Given the description of an element on the screen output the (x, y) to click on. 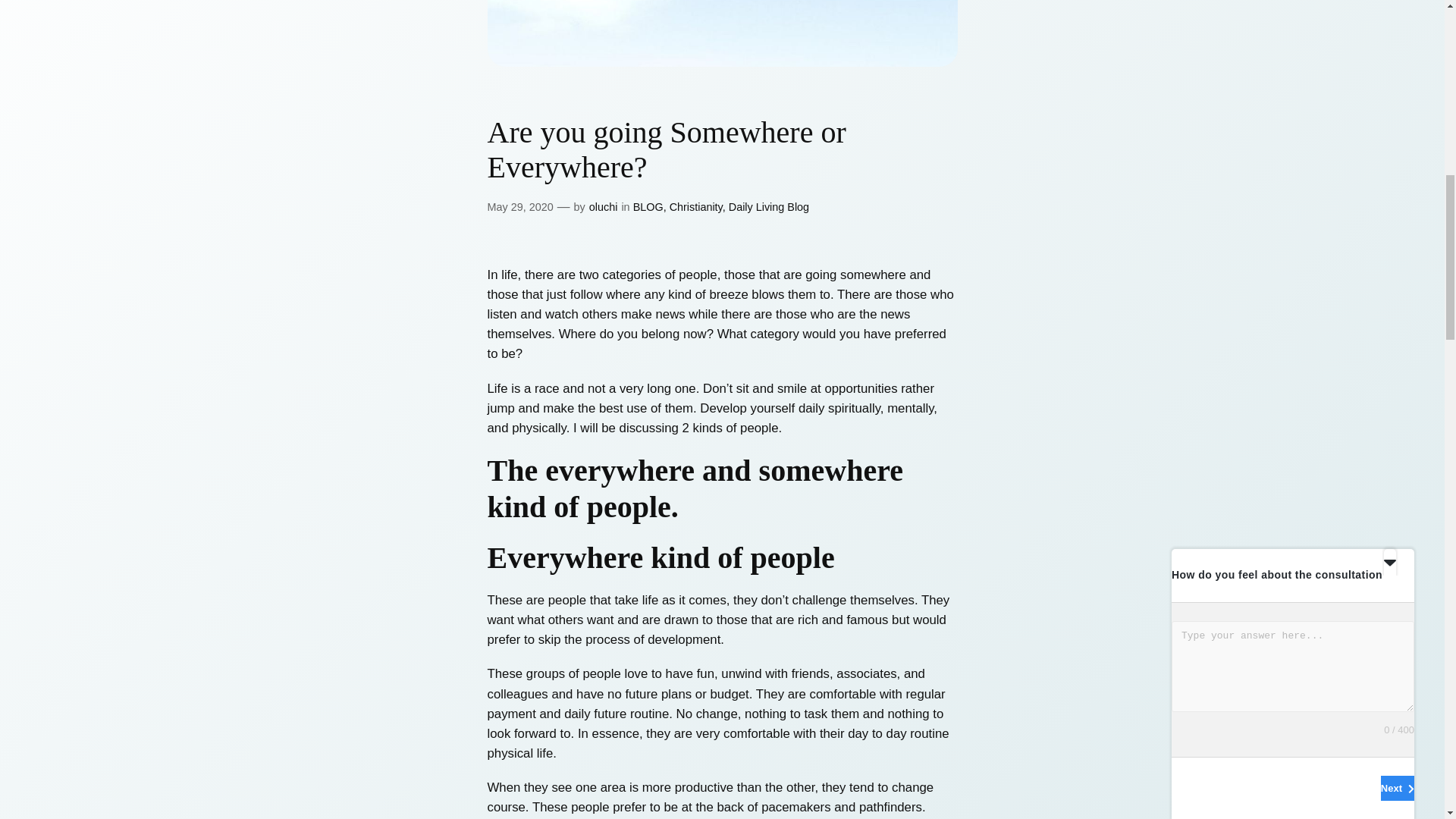
Christianity (695, 206)
BLOG (648, 206)
Daily Living Blog (769, 206)
oluchi (603, 206)
May 29, 2020 (519, 206)
